Given the description of an element on the screen output the (x, y) to click on. 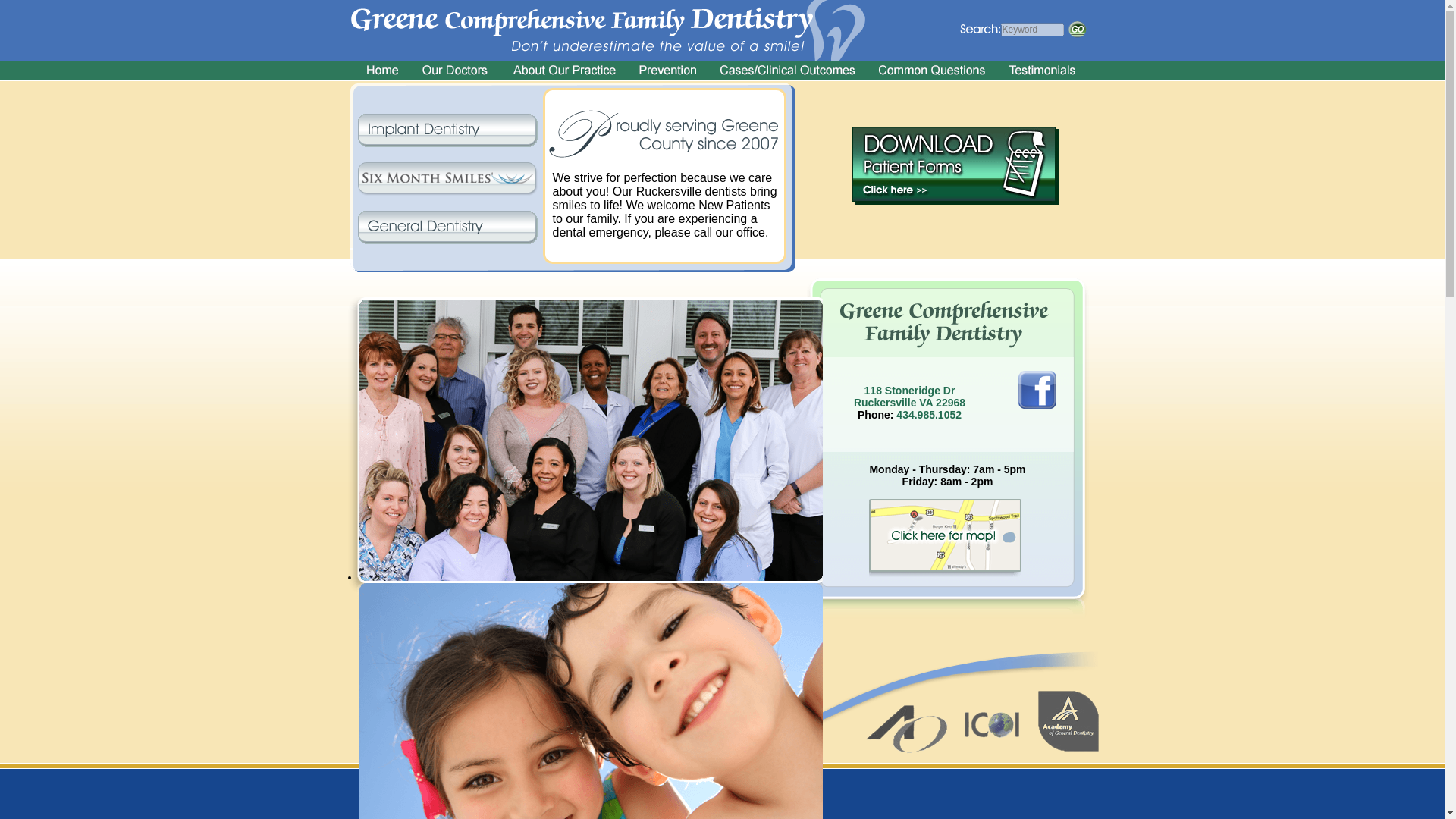
Home (499, 679)
About Our Practice (556, 679)
Prevention (909, 396)
Testimonials (623, 679)
434.985.1052 (638, 695)
Contact Us (928, 414)
Common Questions (692, 695)
